Given the description of an element on the screen output the (x, y) to click on. 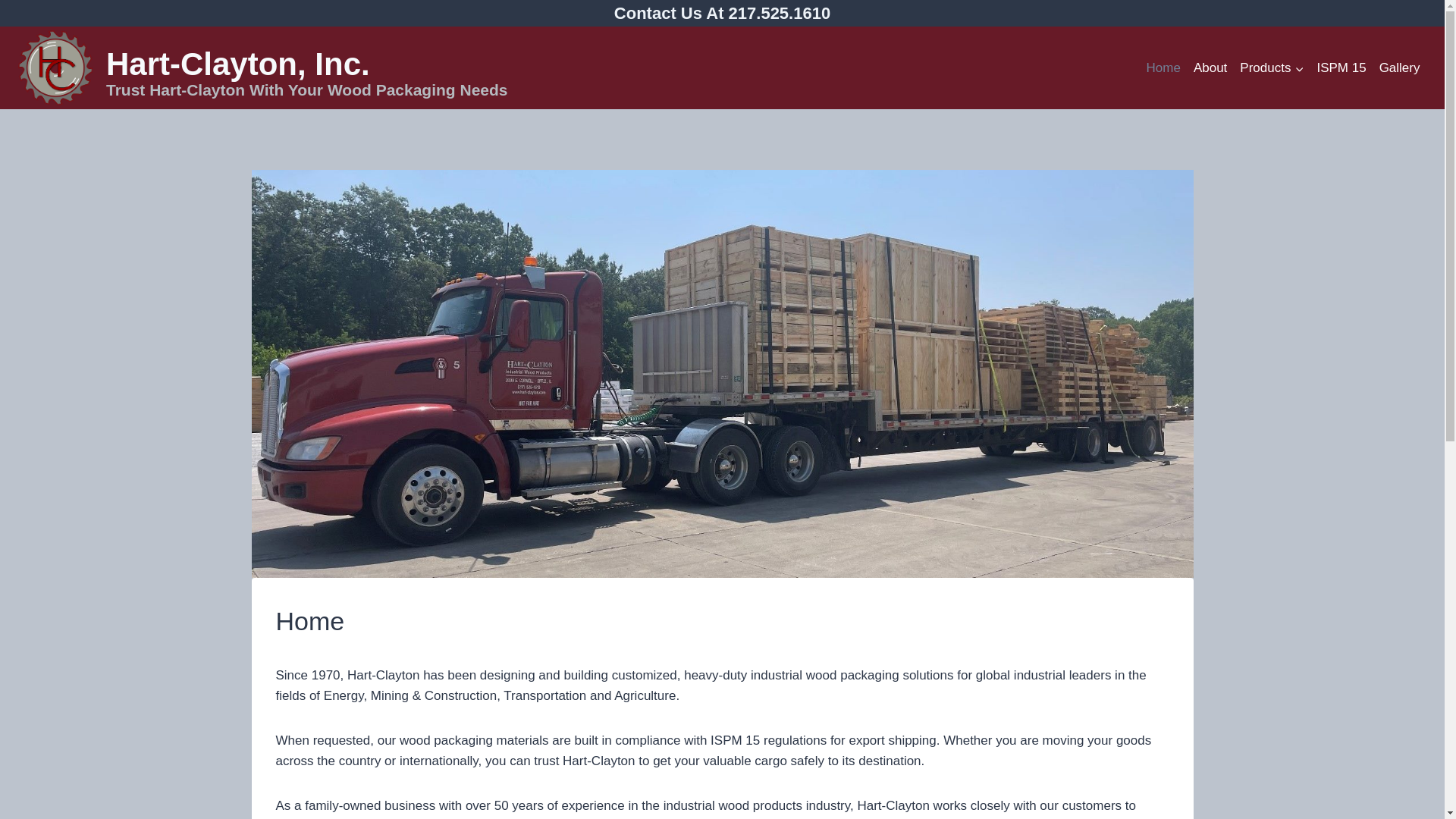
Products (1271, 67)
Gallery (1399, 67)
ISPM 15 (1341, 67)
Home (1163, 67)
About (1209, 67)
